Given the description of an element on the screen output the (x, y) to click on. 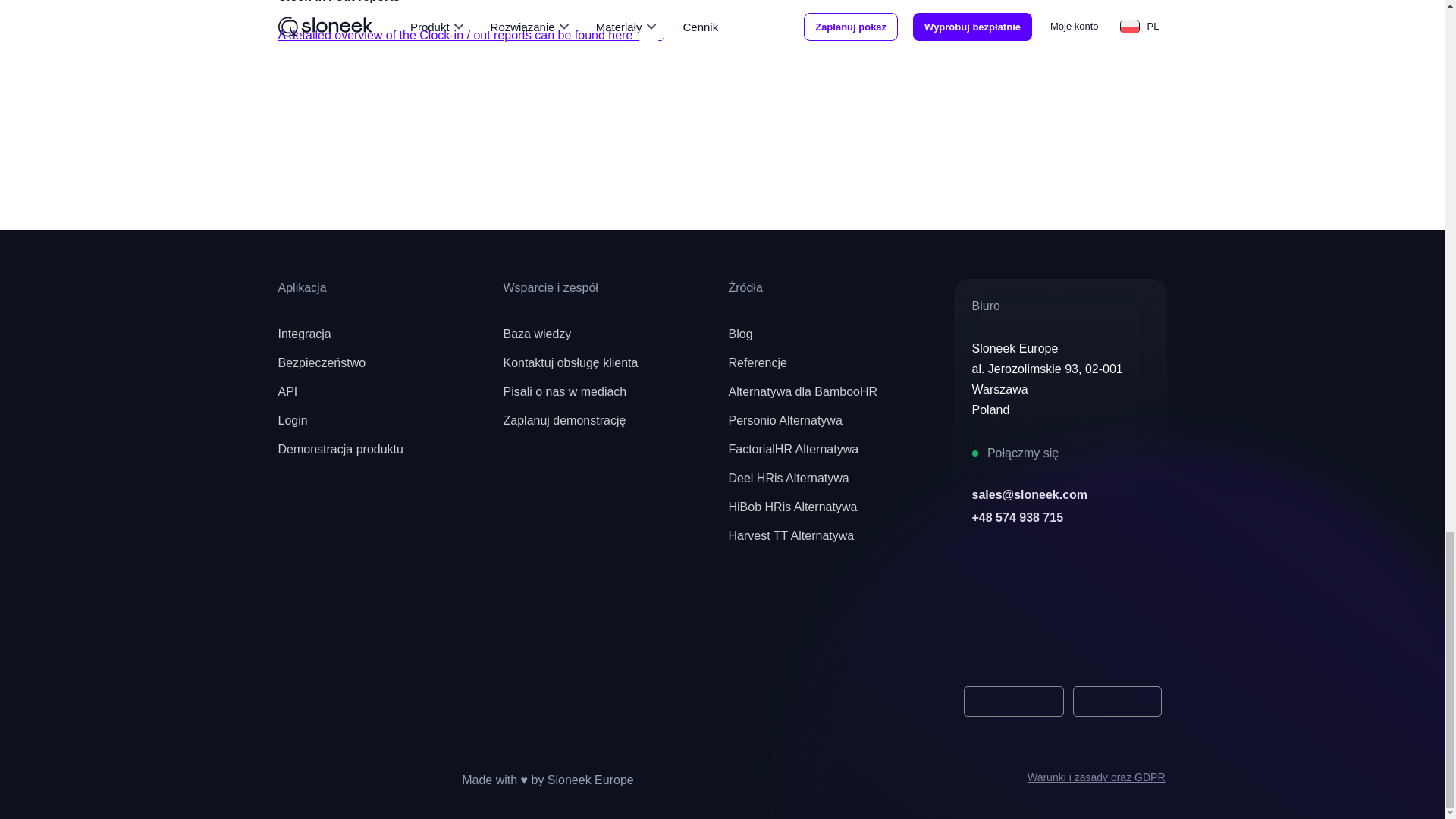
audioboom (500, 612)
youtube (367, 612)
linkedin (433, 612)
Capterra (324, 700)
facebook (300, 612)
